Given the description of an element on the screen output the (x, y) to click on. 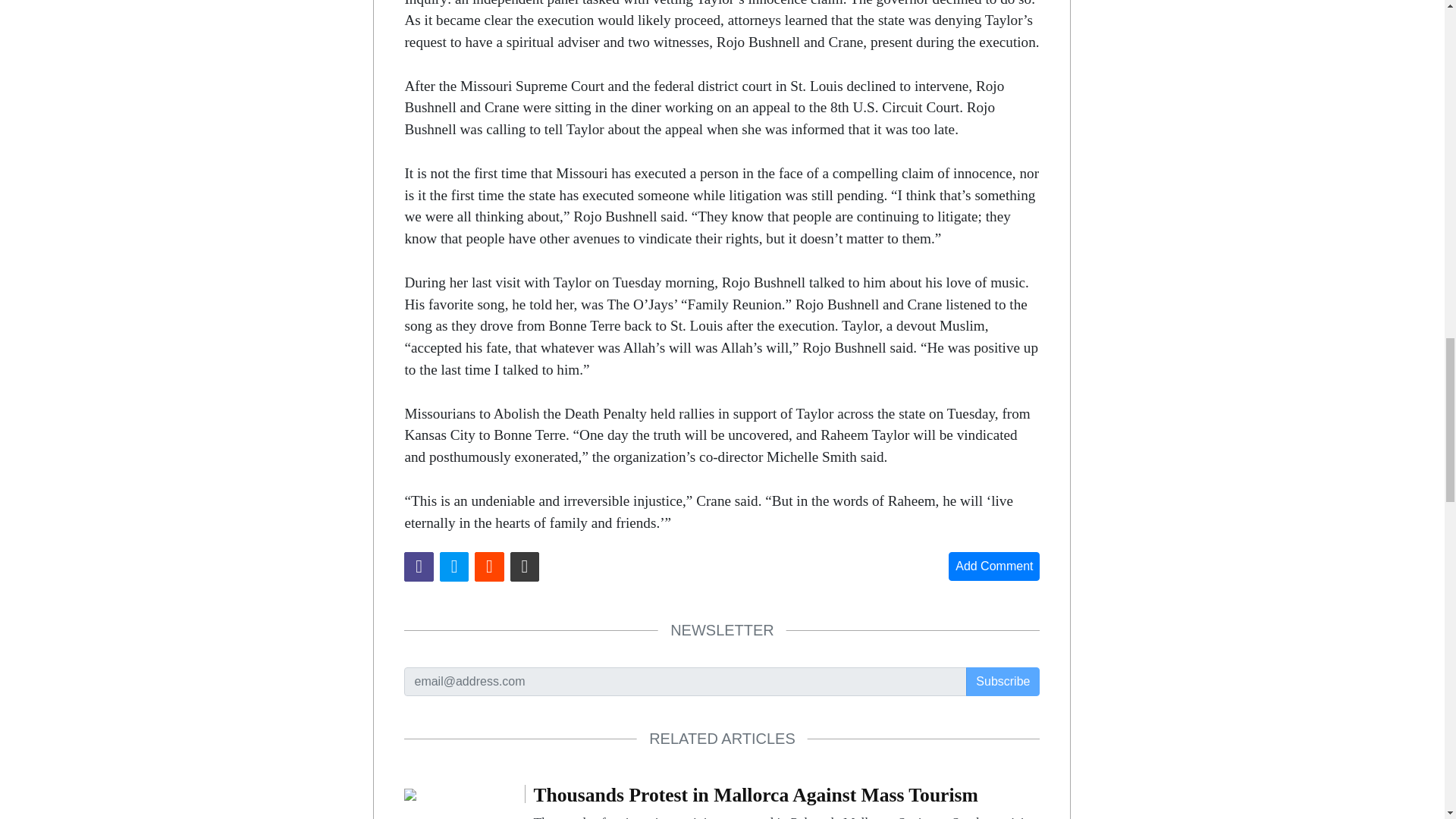
Thousands Protest in Mallorca Against Mass Tourism (785, 801)
Subscribe (1002, 681)
Thousands Protest in Mallorca Against Mass Tourism (410, 793)
Add Comment (994, 566)
